Given the description of an element on the screen output the (x, y) to click on. 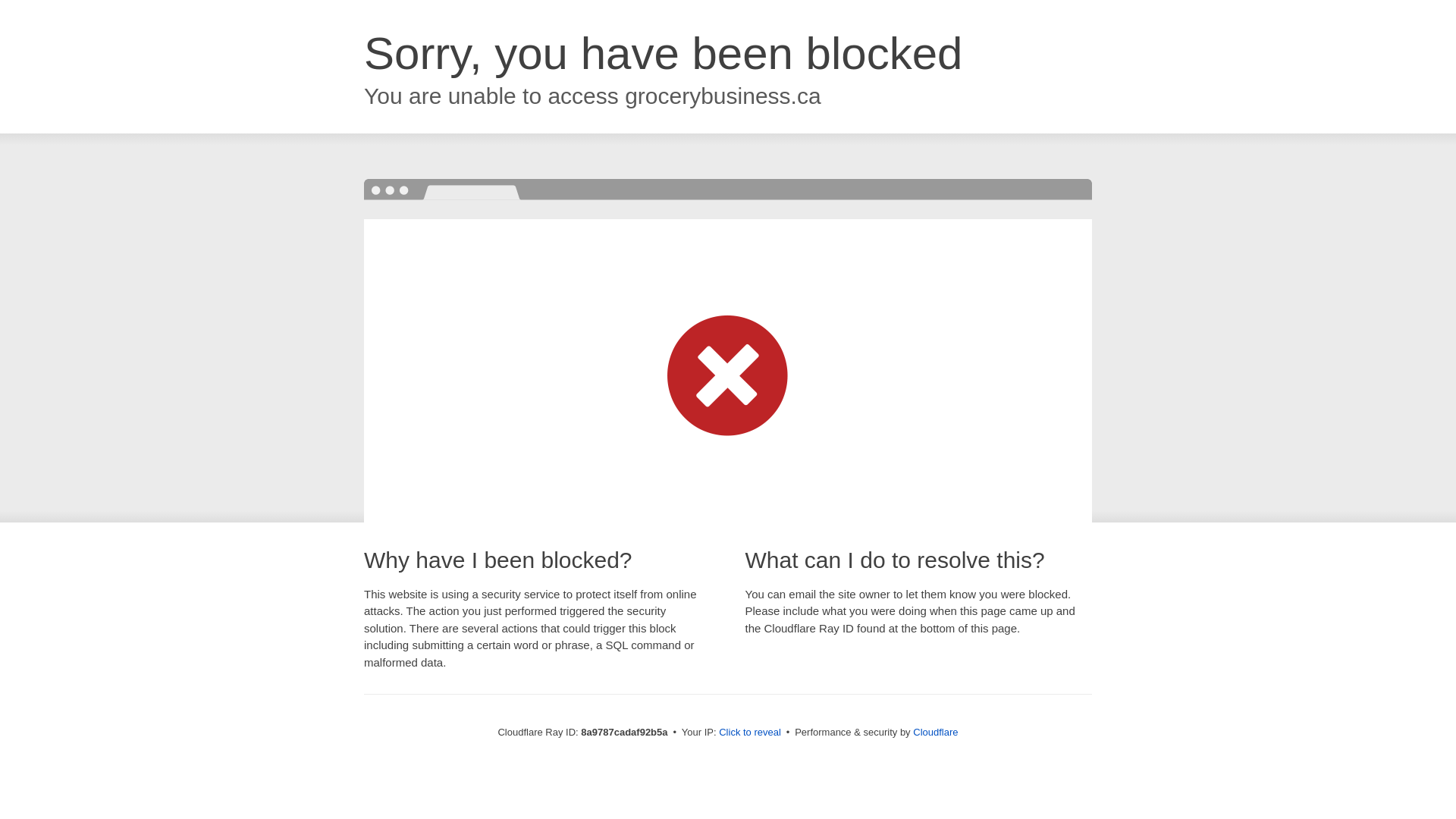
Click to reveal (749, 732)
Cloudflare (935, 731)
